Given the description of an element on the screen output the (x, y) to click on. 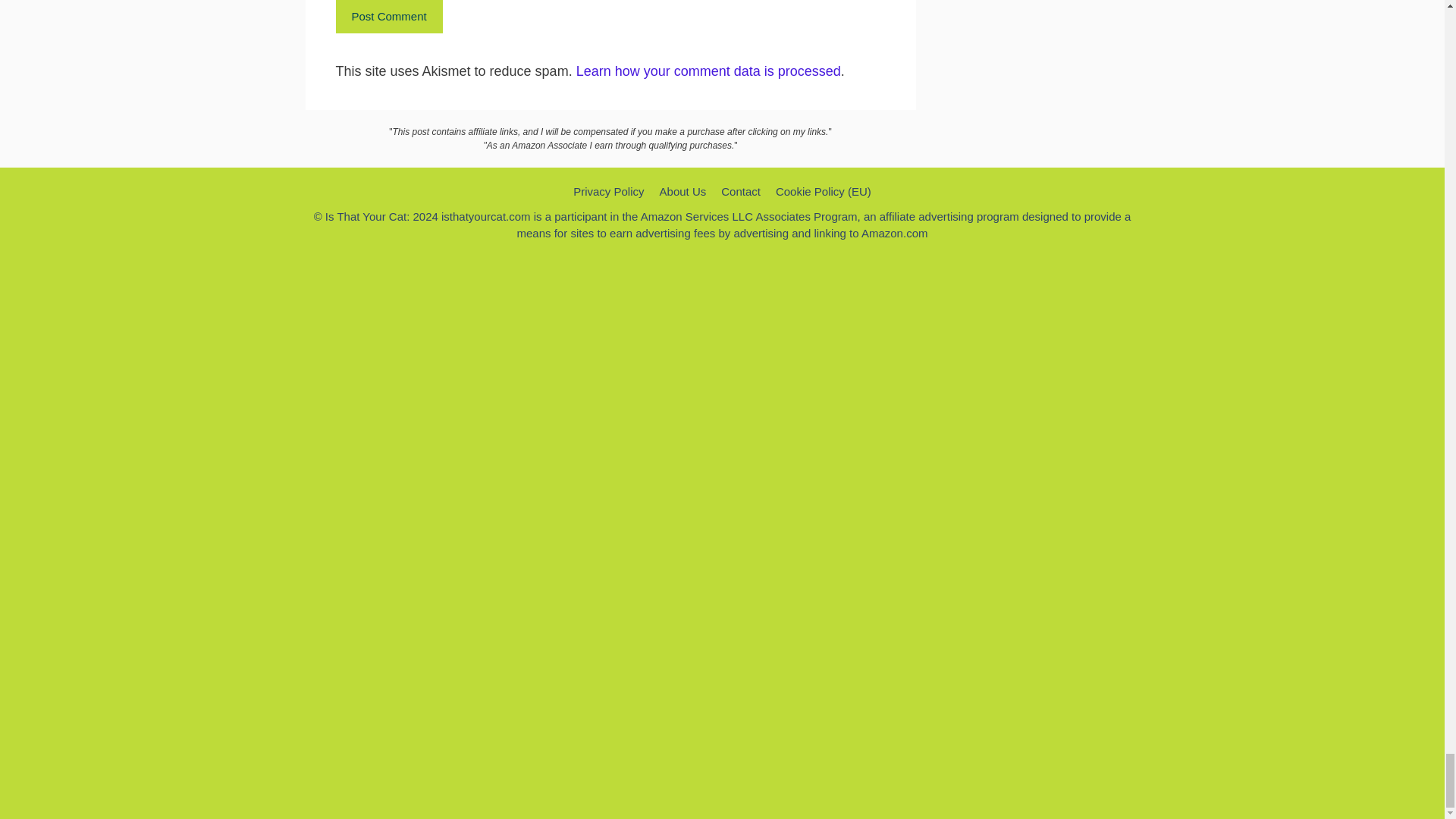
DMCA.com Protection Status (721, 793)
Post Comment (388, 17)
